Given the description of an element on the screen output the (x, y) to click on. 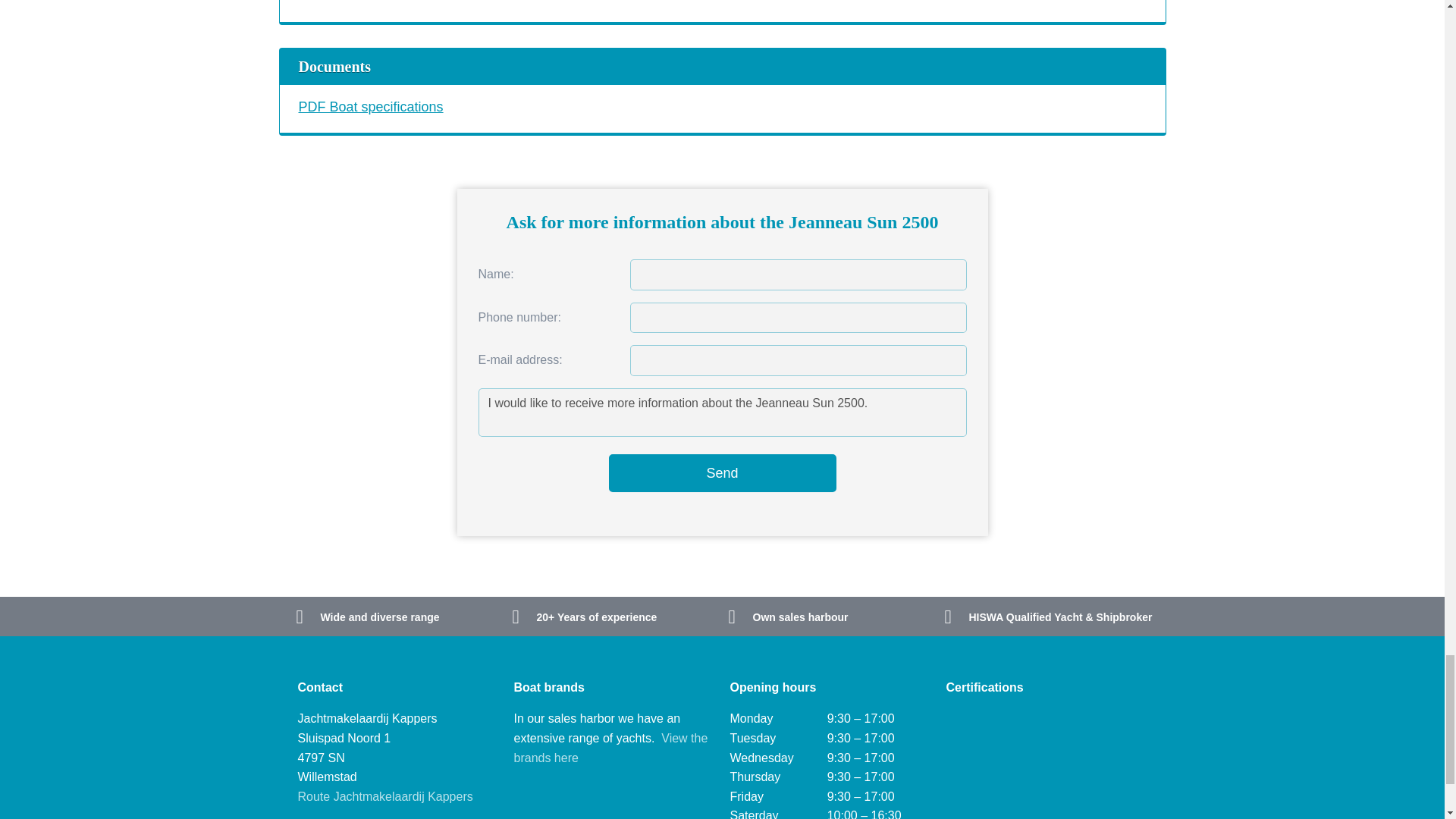
Send (721, 473)
